Given the description of an element on the screen output the (x, y) to click on. 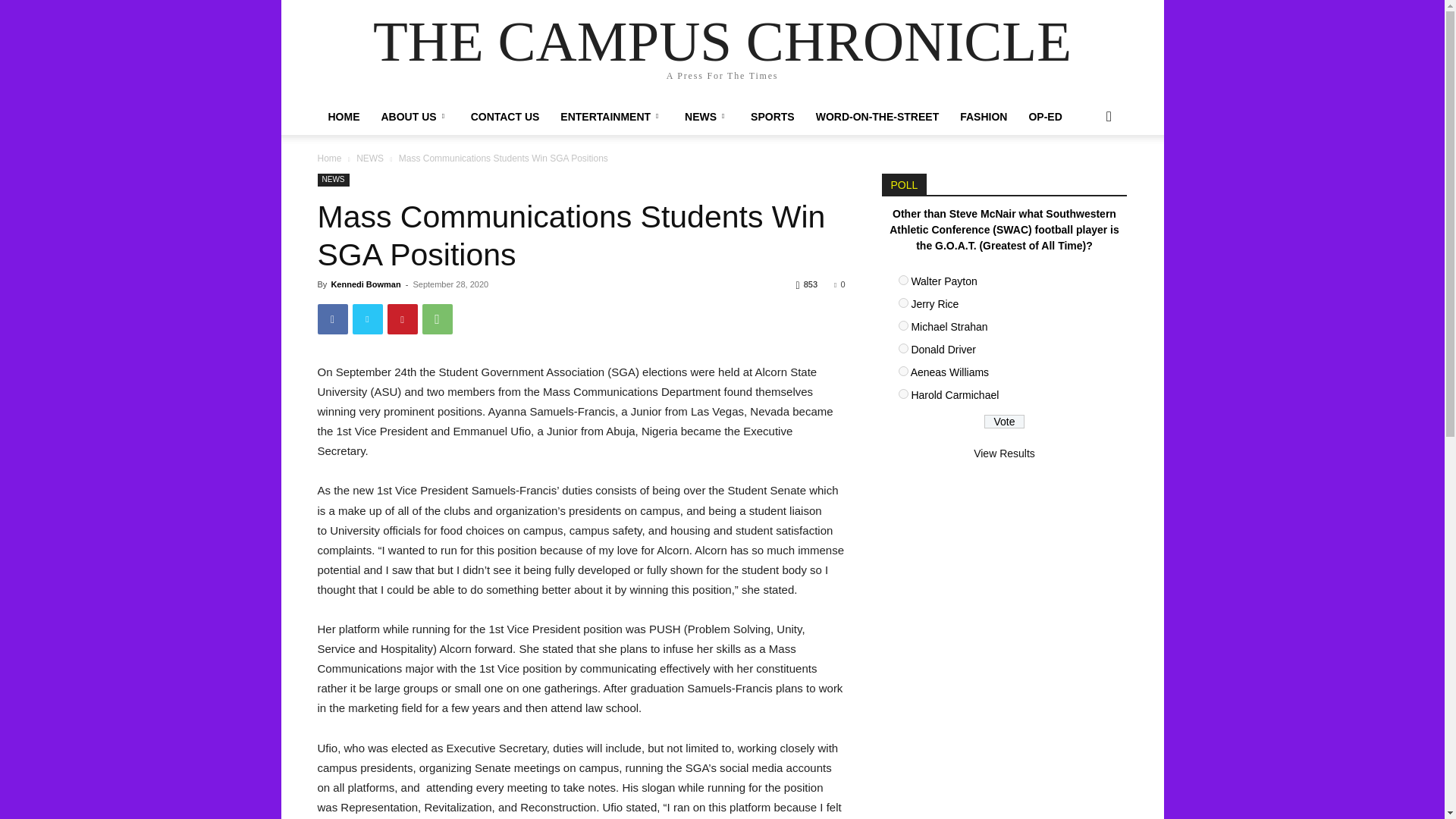
Twitter (366, 318)
558 (902, 280)
Facebook (332, 318)
563 (902, 393)
   Vote    (1004, 421)
562 (902, 370)
NEWS (706, 116)
WhatsApp (436, 318)
Pinterest (401, 318)
THE CAMPUS CHRONICLE (721, 41)
CONTACT US (505, 116)
559 (902, 302)
HOME (343, 116)
View Results Of This Poll (1004, 453)
ENTERTAINMENT (612, 116)
